Given the description of an element on the screen output the (x, y) to click on. 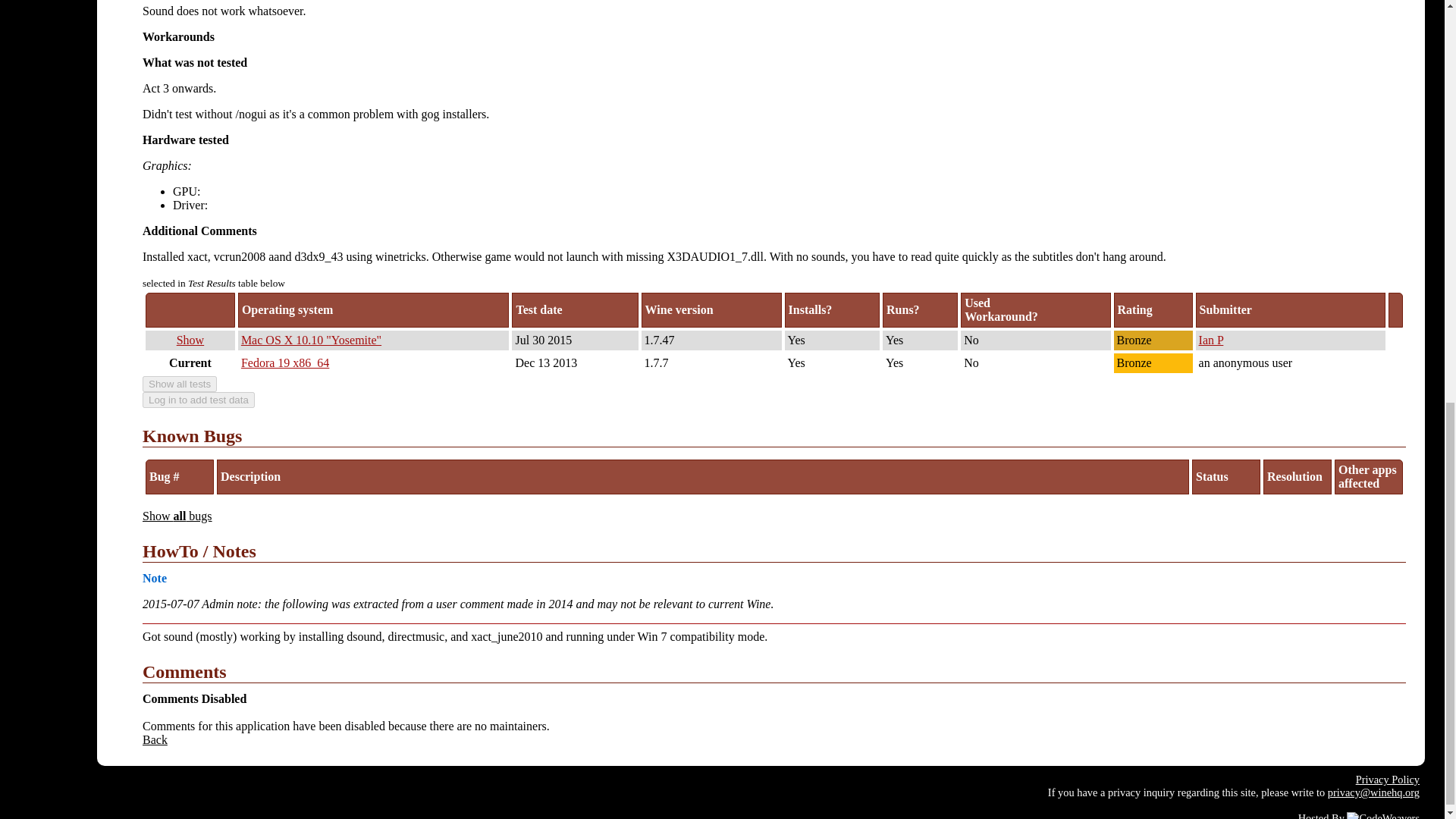
Ian P (1211, 339)
Mac OS X 10.10 "Yosemite" (311, 339)
Privacy Policy (1387, 779)
Show (189, 339)
Show all tests (179, 383)
Back (154, 739)
Log in to add test data (198, 399)
Comments (774, 672)
Known Bugs (774, 436)
Show all bugs (177, 515)
